Given the description of an element on the screen output the (x, y) to click on. 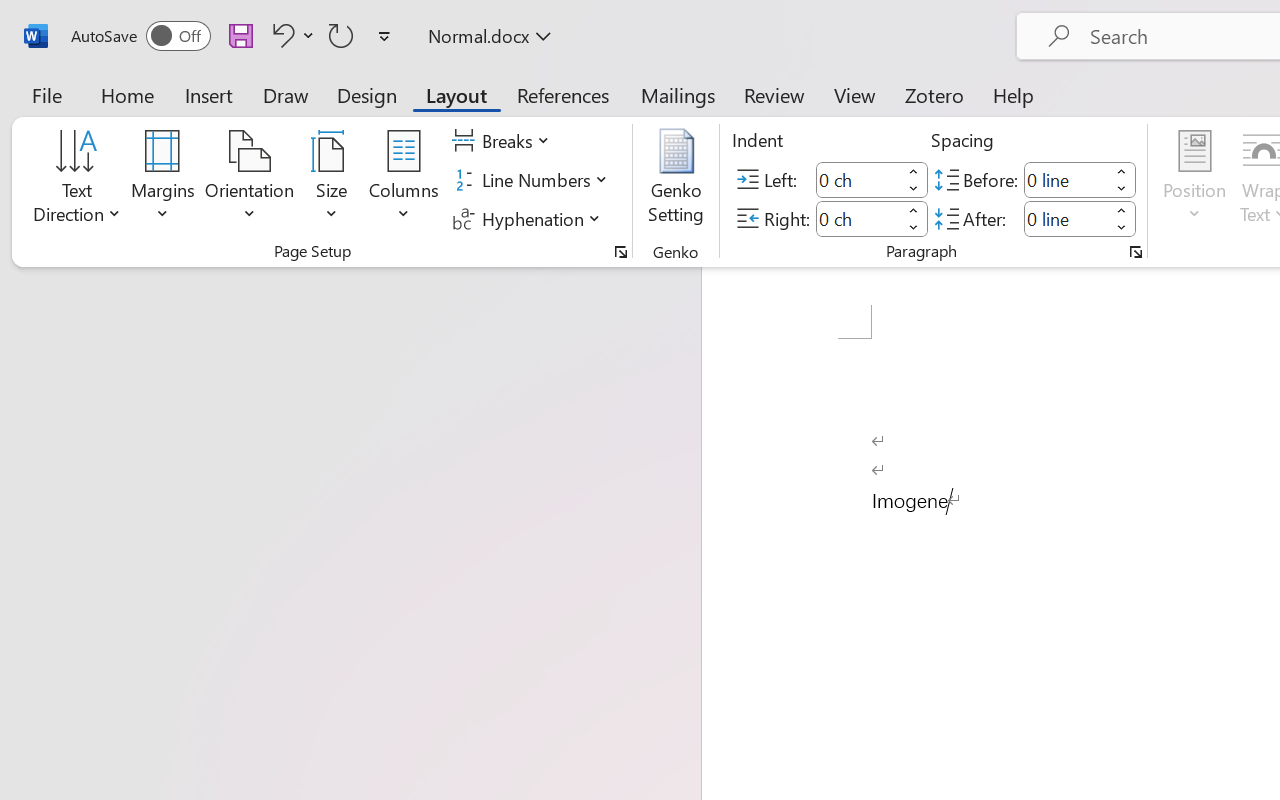
Columns (404, 179)
Undo Italic (280, 35)
Page Setup... (621, 252)
Margins (163, 179)
Spacing Before (1066, 179)
Repeat Italic (341, 35)
Undo Italic (290, 35)
Less (1121, 227)
Orientation (250, 179)
Position (1194, 179)
